Given the description of an element on the screen output the (x, y) to click on. 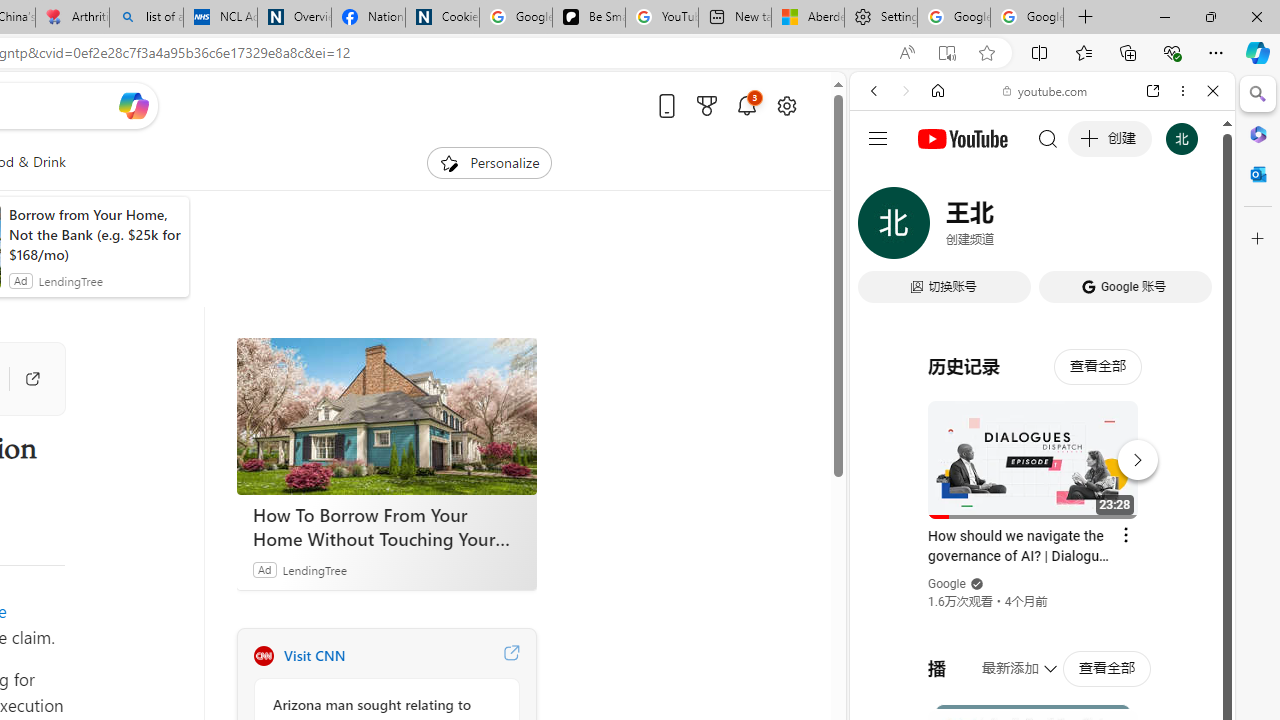
Preferences (1189, 228)
Go to publisher's site (22, 378)
list of asthma inhalers uk - Search (146, 17)
Ad (264, 569)
Favorites (1083, 52)
Close Outlook pane (1258, 174)
Google (1042, 494)
Microsoft rewards (707, 105)
Open settings (786, 105)
Notifications (746, 105)
